Given the description of an element on the screen output the (x, y) to click on. 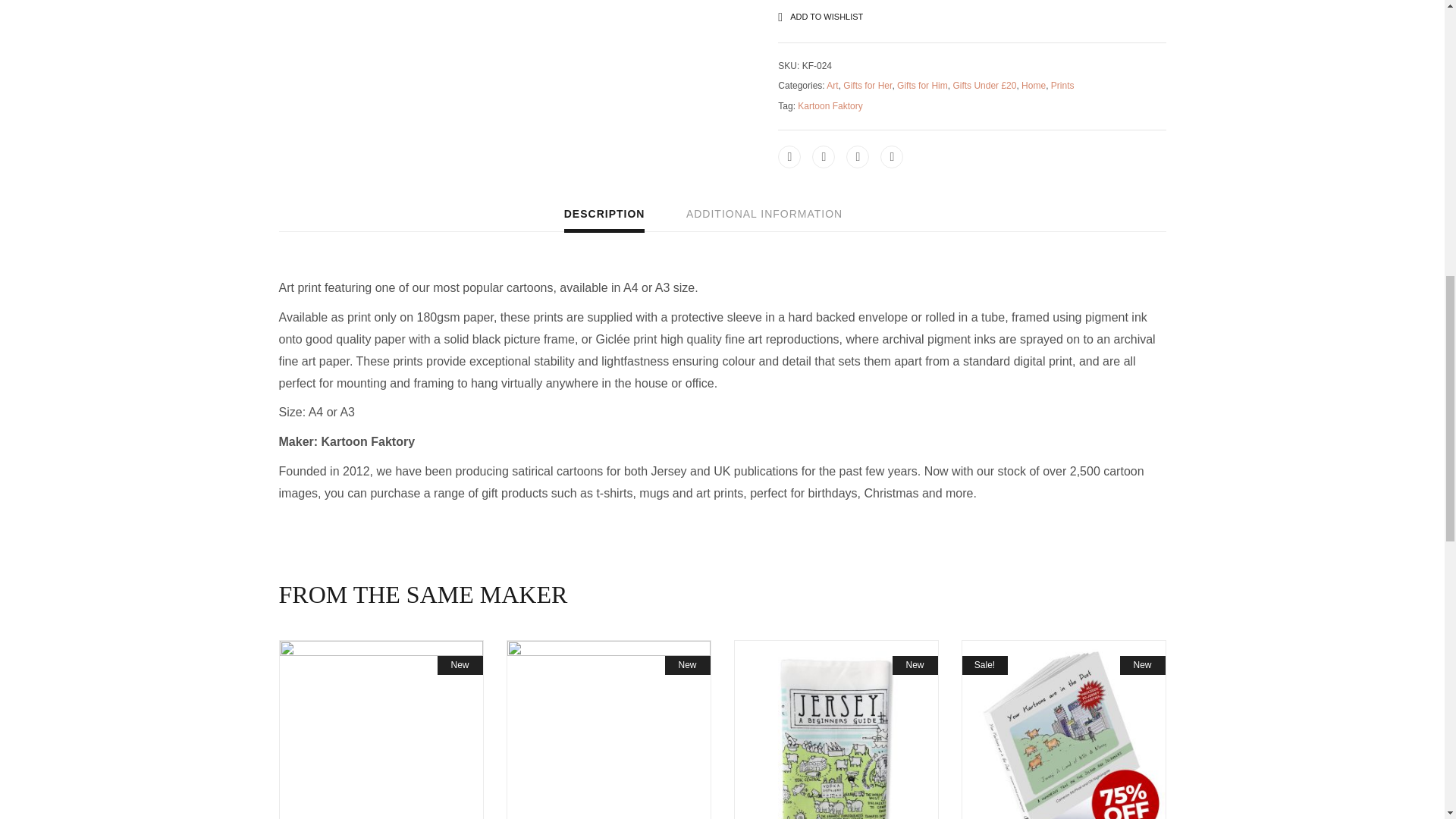
Share this post on Pinterest (857, 156)
Share this post via Email (891, 156)
Share this post on Twitter (823, 156)
Add to wishlist (823, 17)
Share this post on Facebook (788, 156)
